Given the description of an element on the screen output the (x, y) to click on. 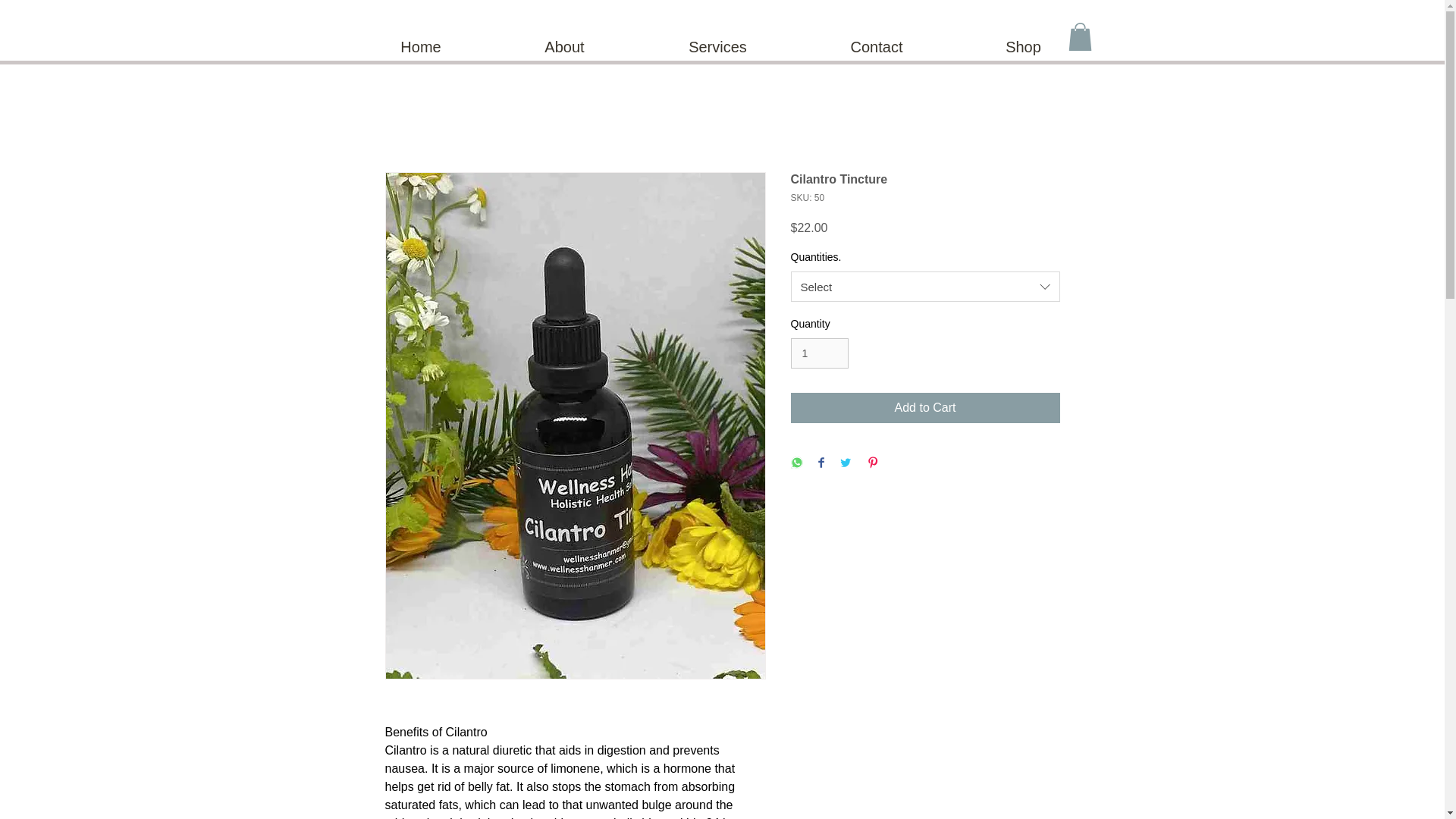
1 (818, 353)
Services (718, 47)
Add to Cart (924, 408)
Home (420, 47)
About (565, 47)
Shop (1022, 47)
Select (924, 286)
Contact (877, 47)
